Given the description of an element on the screen output the (x, y) to click on. 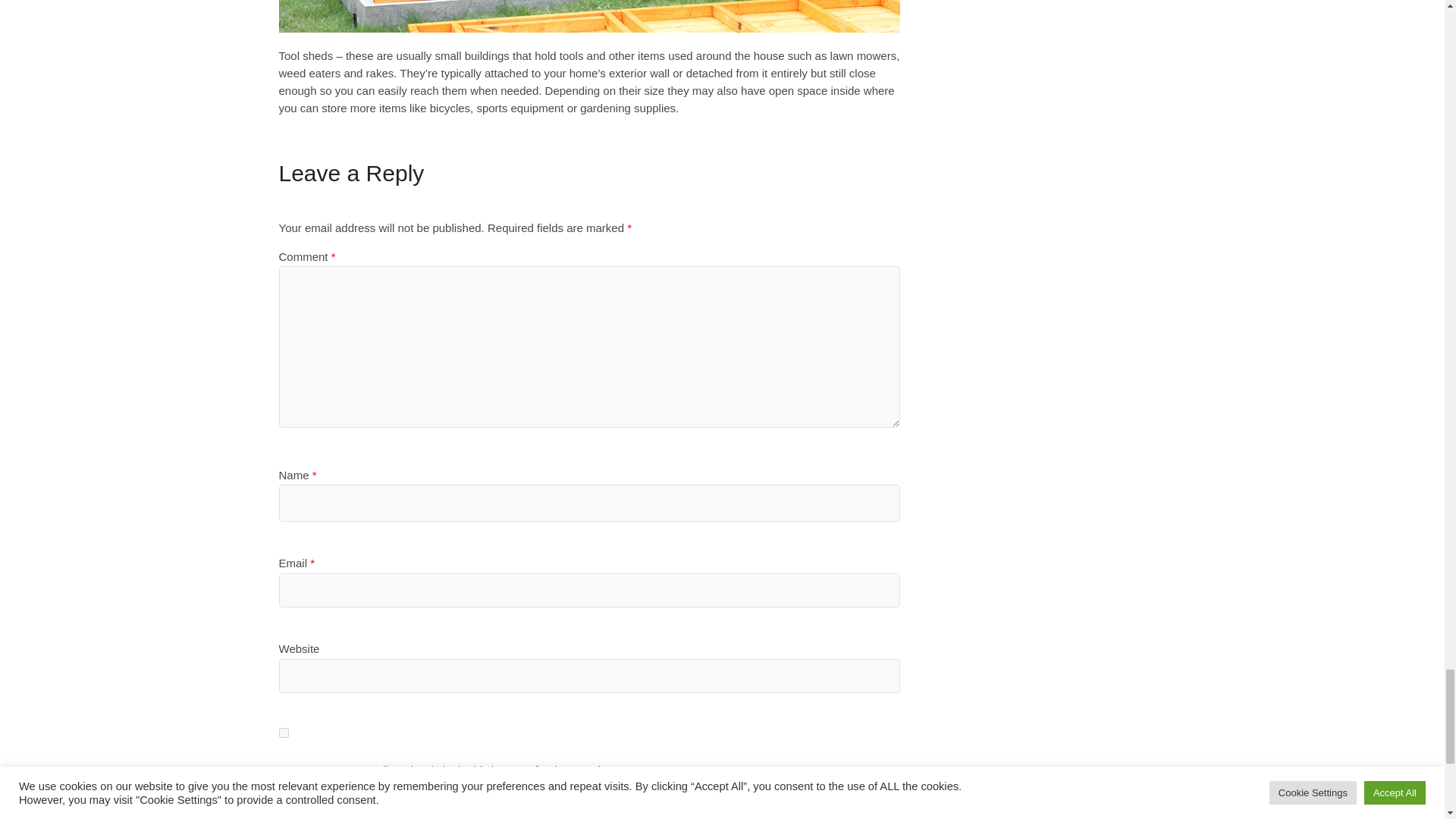
yes (283, 732)
Post Comment (338, 802)
Post Comment (338, 802)
